Given the description of an element on the screen output the (x, y) to click on. 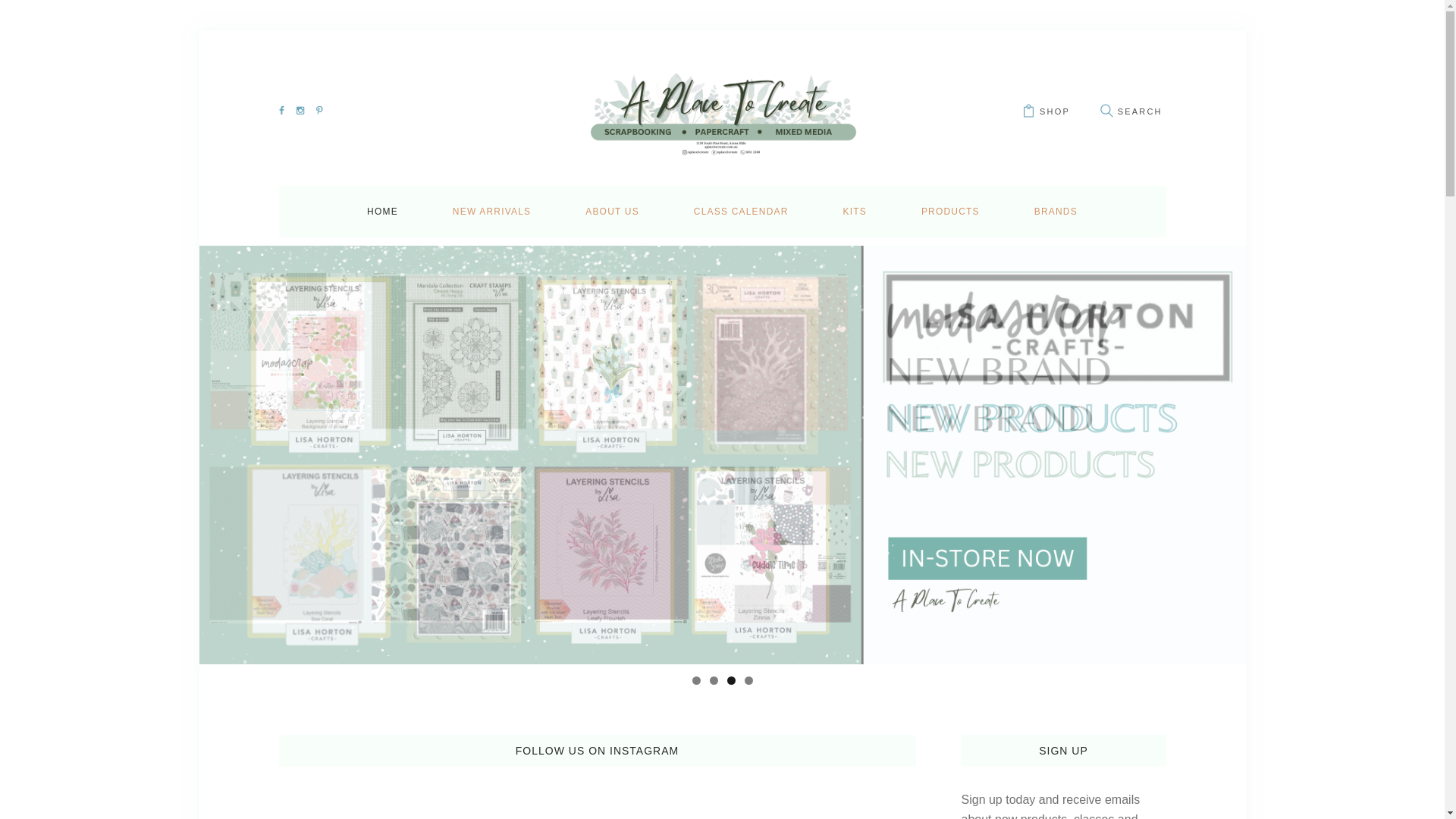
SHOP (1046, 109)
CLASS CALENDAR (740, 211)
ABOUT US (611, 211)
NEW ARRIVALS (491, 211)
HOME (382, 211)
Start search (1106, 110)
PRODUCTS (950, 211)
KITS (854, 211)
